Given the description of an element on the screen output the (x, y) to click on. 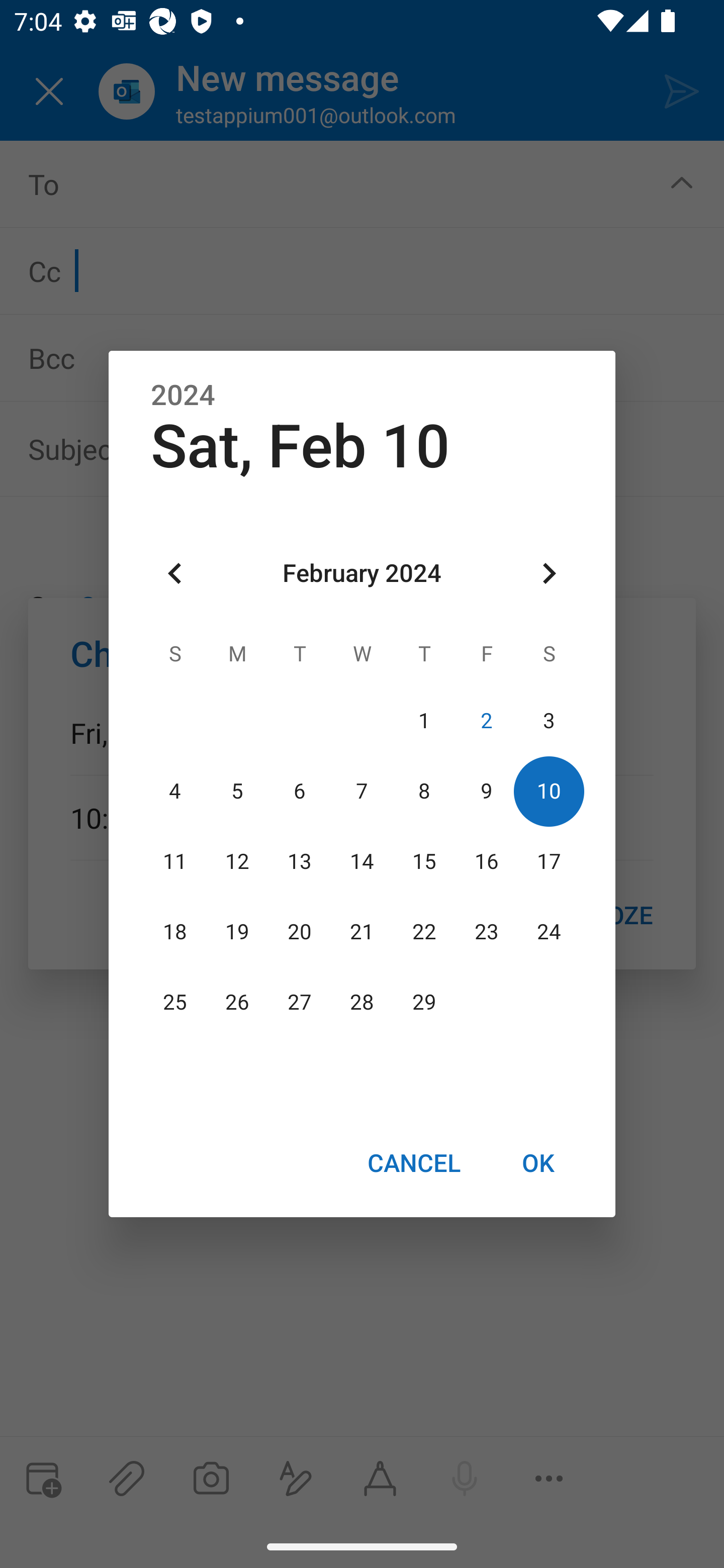
2024 (182, 395)
Sat, Feb 10 (300, 446)
Previous month (174, 573)
Next month (548, 573)
1 01 February 2024 (424, 720)
2 02 February 2024 (486, 720)
3 03 February 2024 (548, 720)
4 04 February 2024 (175, 790)
5 05 February 2024 (237, 790)
6 06 February 2024 (299, 790)
7 07 February 2024 (361, 790)
8 08 February 2024 (424, 790)
9 09 February 2024 (486, 790)
10 10 February 2024 (548, 790)
11 11 February 2024 (175, 861)
12 12 February 2024 (237, 861)
13 13 February 2024 (299, 861)
14 14 February 2024 (361, 861)
15 15 February 2024 (424, 861)
16 16 February 2024 (486, 861)
17 17 February 2024 (548, 861)
18 18 February 2024 (175, 931)
19 19 February 2024 (237, 931)
20 20 February 2024 (299, 931)
21 21 February 2024 (361, 931)
22 22 February 2024 (424, 931)
23 23 February 2024 (486, 931)
24 24 February 2024 (548, 931)
25 25 February 2024 (175, 1002)
26 26 February 2024 (237, 1002)
27 27 February 2024 (299, 1002)
28 28 February 2024 (361, 1002)
29 29 February 2024 (424, 1002)
CANCEL (413, 1162)
OK (537, 1162)
